Given the description of an element on the screen output the (x, y) to click on. 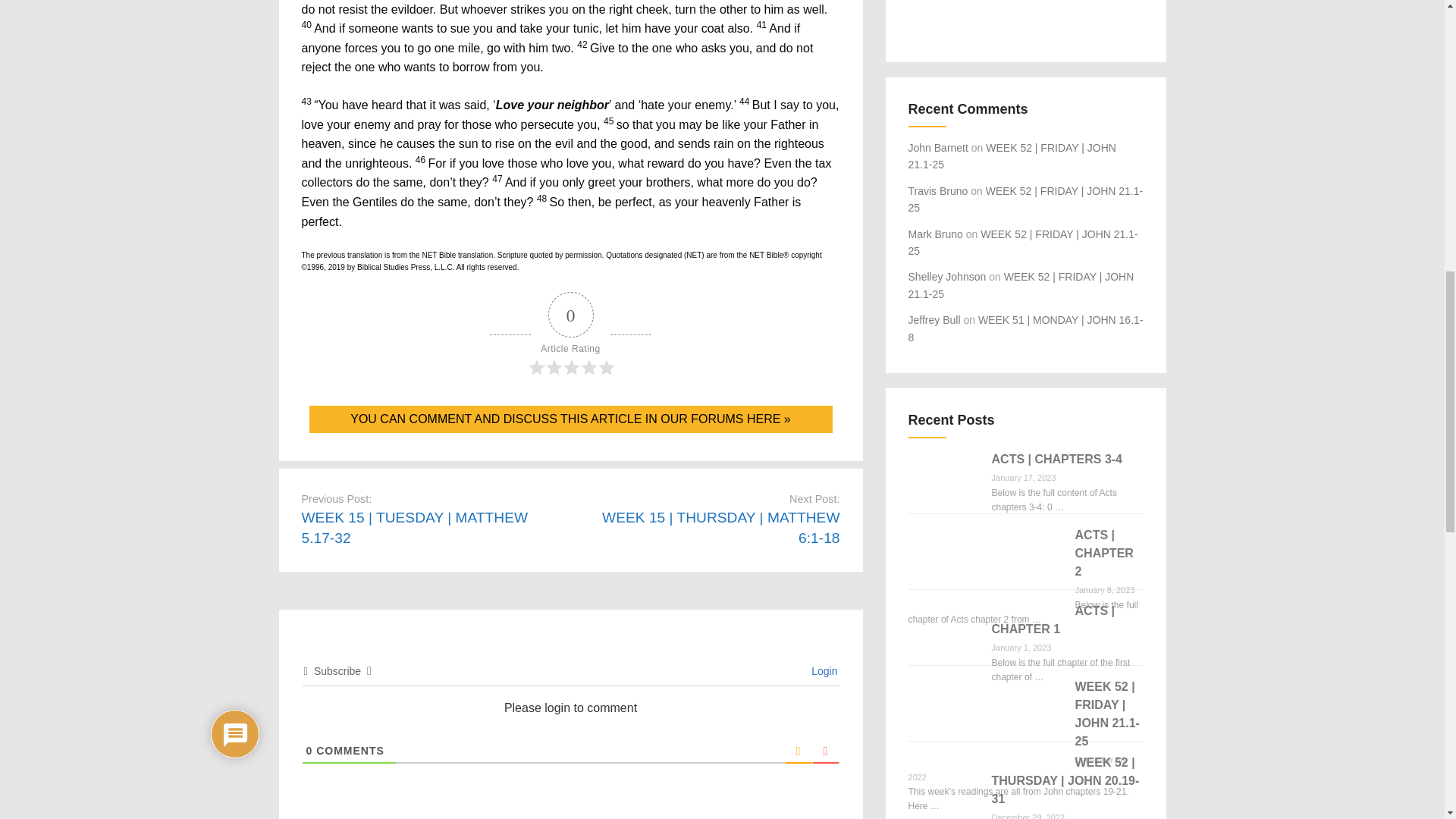
John Barnett (938, 147)
Travis Bruno (938, 191)
Login (821, 671)
Mark Bruno (935, 234)
Jeffrey Bull (934, 319)
Shelley Johnson (947, 276)
